Given the description of an element on the screen output the (x, y) to click on. 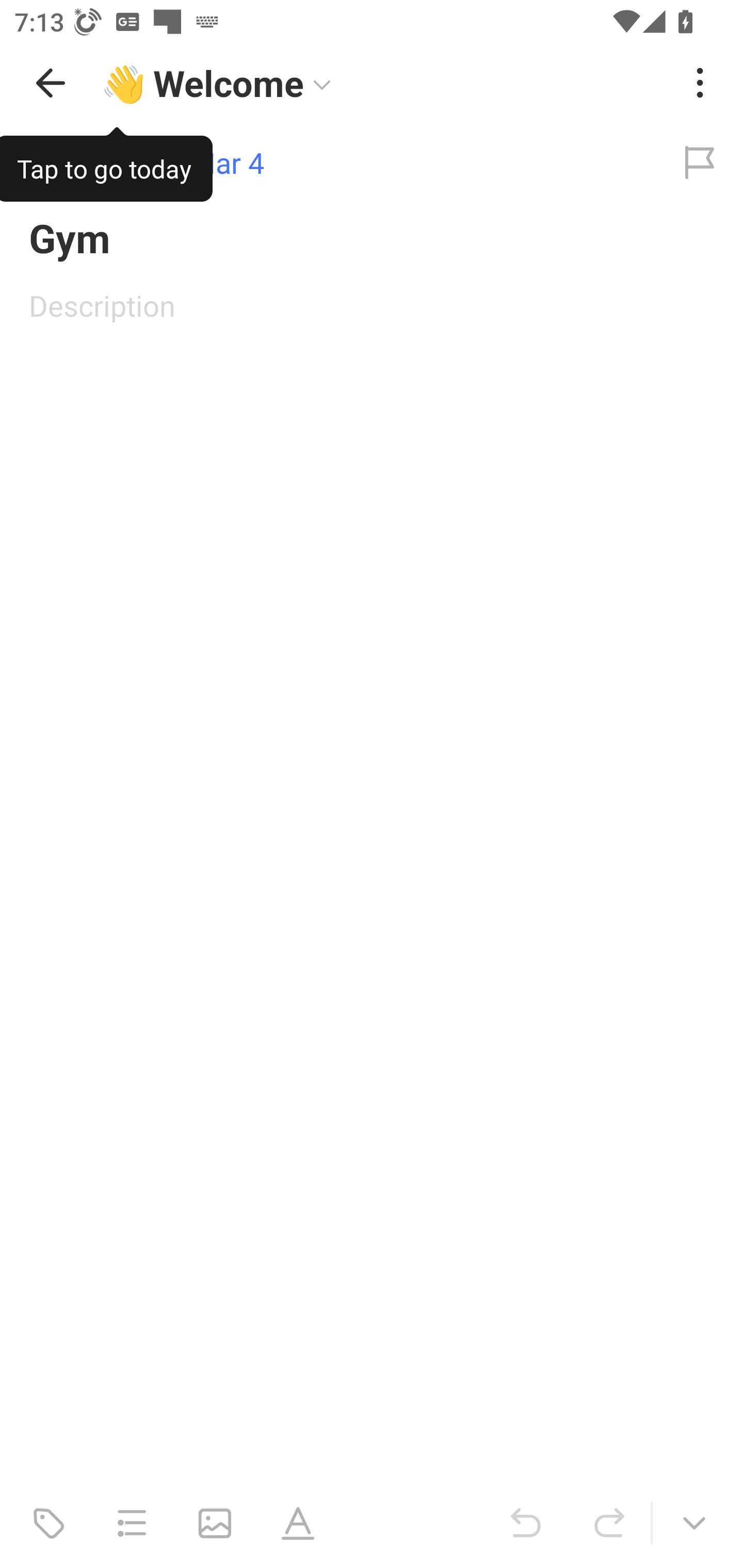
👋 Welcome (384, 82)
Tap to go today (106, 164)
Gym (371, 237)
Description (371, 304)
